Given the description of an element on the screen output the (x, y) to click on. 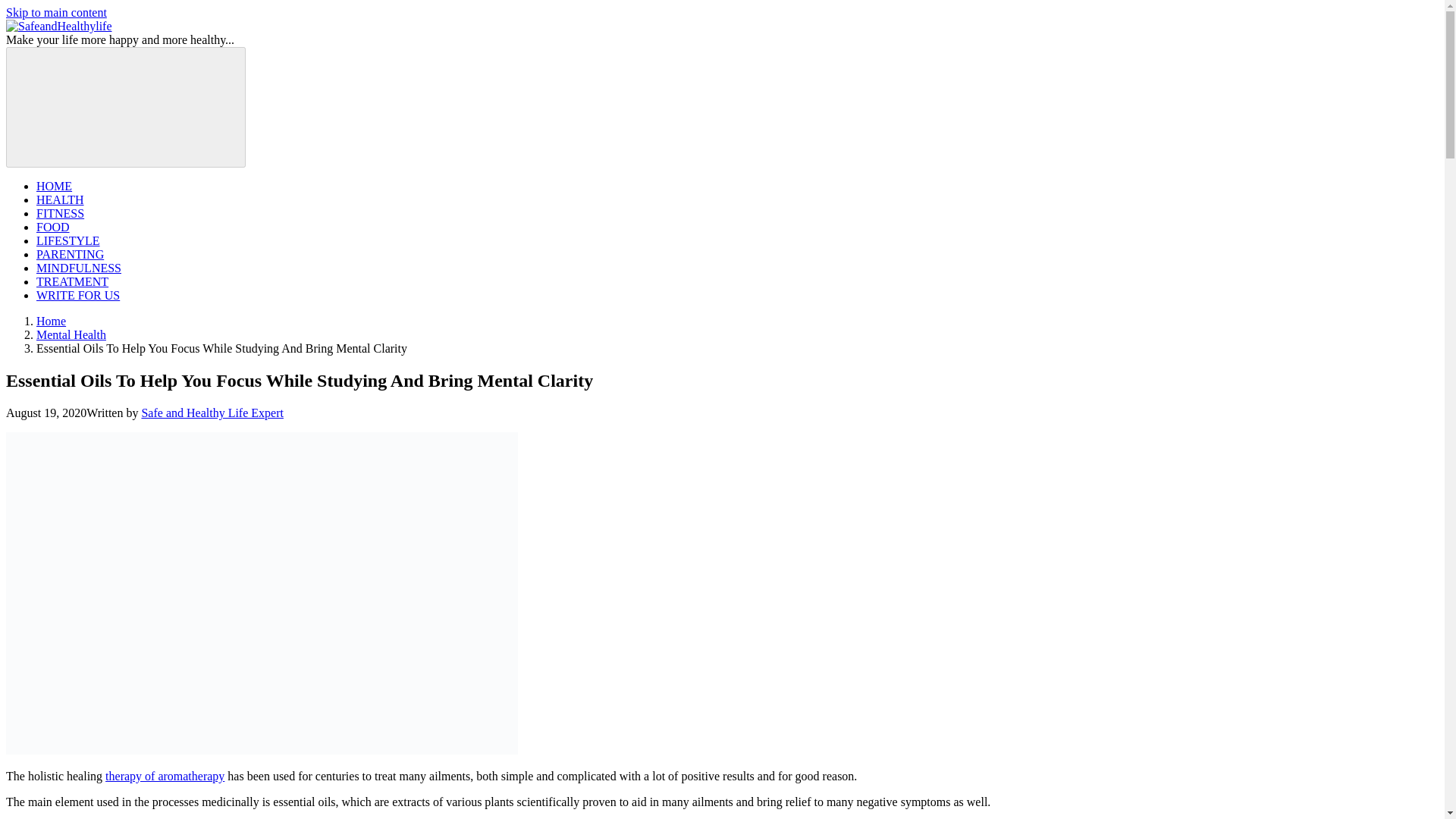
PARENTING (69, 254)
FOOD (52, 226)
therapy of aromatherapy (164, 775)
MINDFULNESS (78, 267)
HOME (53, 185)
Mental Health (71, 334)
LIFESTYLE (68, 240)
FITNESS (60, 213)
Skip to main content (55, 11)
WRITE FOR US (77, 295)
